Given the description of an element on the screen output the (x, y) to click on. 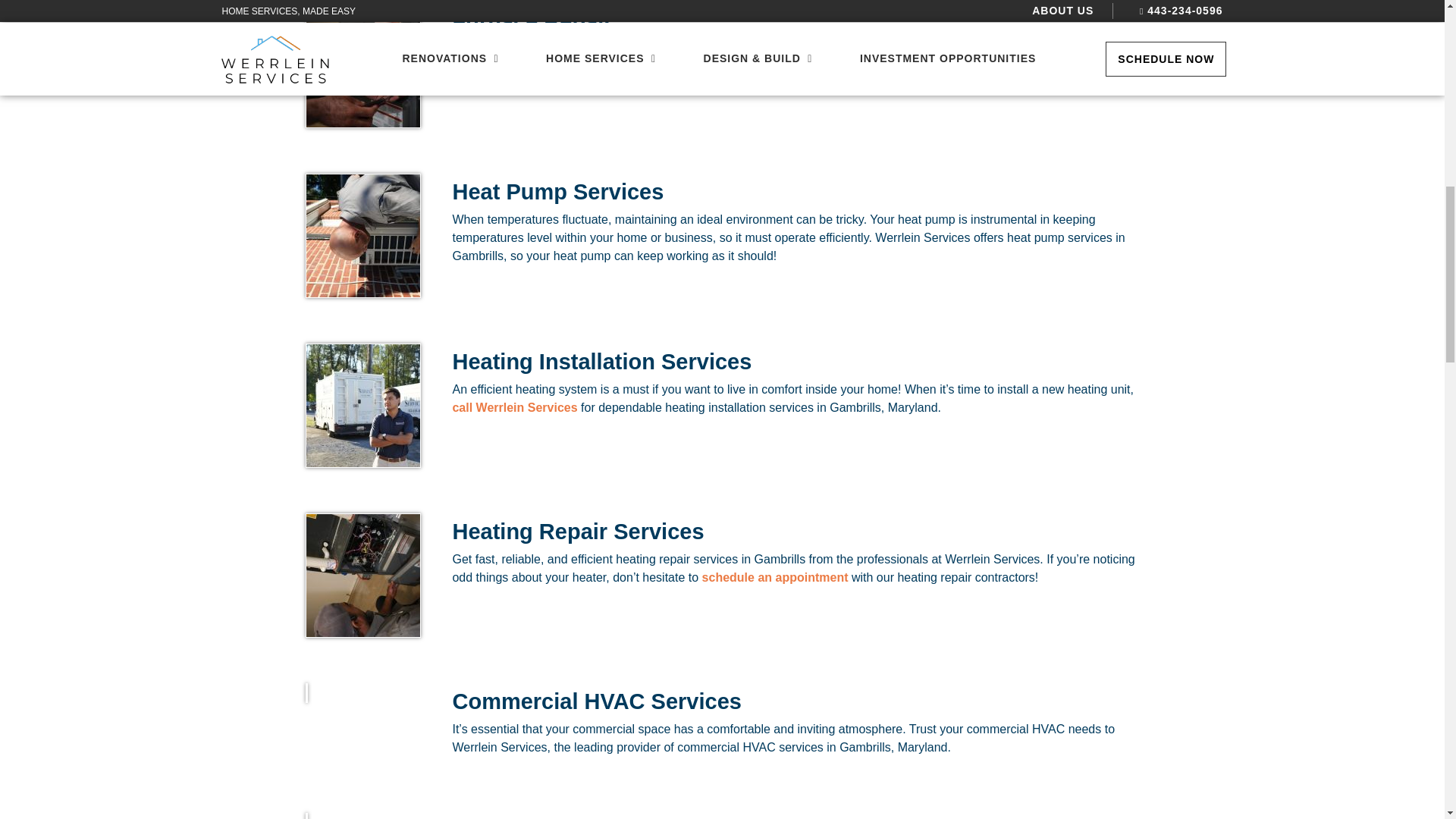
Werrlein Services repair person services a heating system (362, 575)
Werrlein Services repair person services a heat pump (362, 235)
Werrlein Services employees in front of company truck (362, 404)
